Given the description of an element on the screen output the (x, y) to click on. 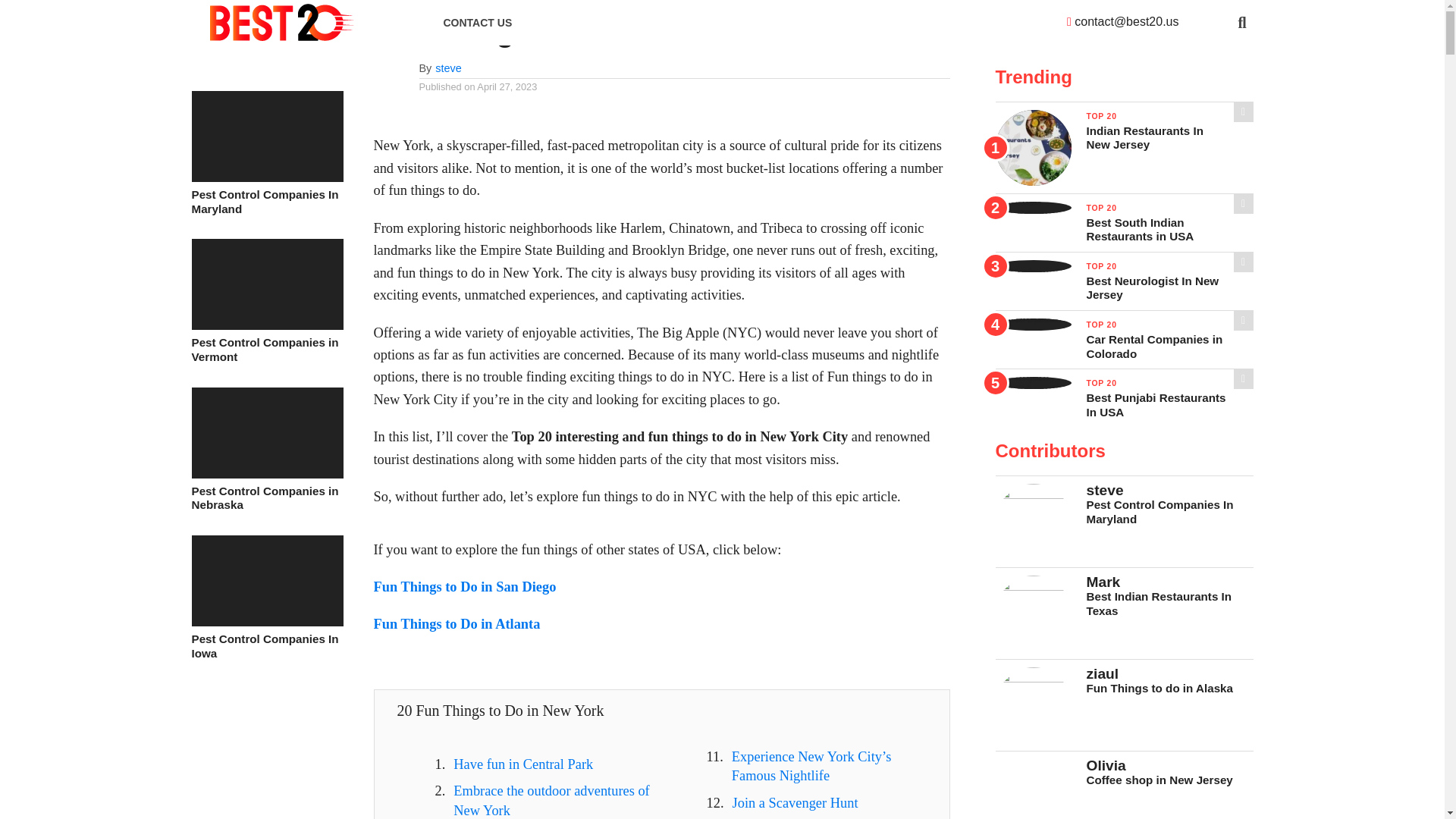
Posts by steve (448, 68)
Pest Control Companies In Iowa (266, 646)
CONTACT US (477, 22)
steve (448, 68)
Have fun in Central Park (522, 764)
Pest Control Companies in Nebraska (266, 498)
Pest Control Companies In Maryland (266, 177)
Join a Scavenger Hunt (795, 802)
Pest Control Companies In Maryland (266, 202)
Pest Control Companies in Vermont (266, 349)
